Given the description of an element on the screen output the (x, y) to click on. 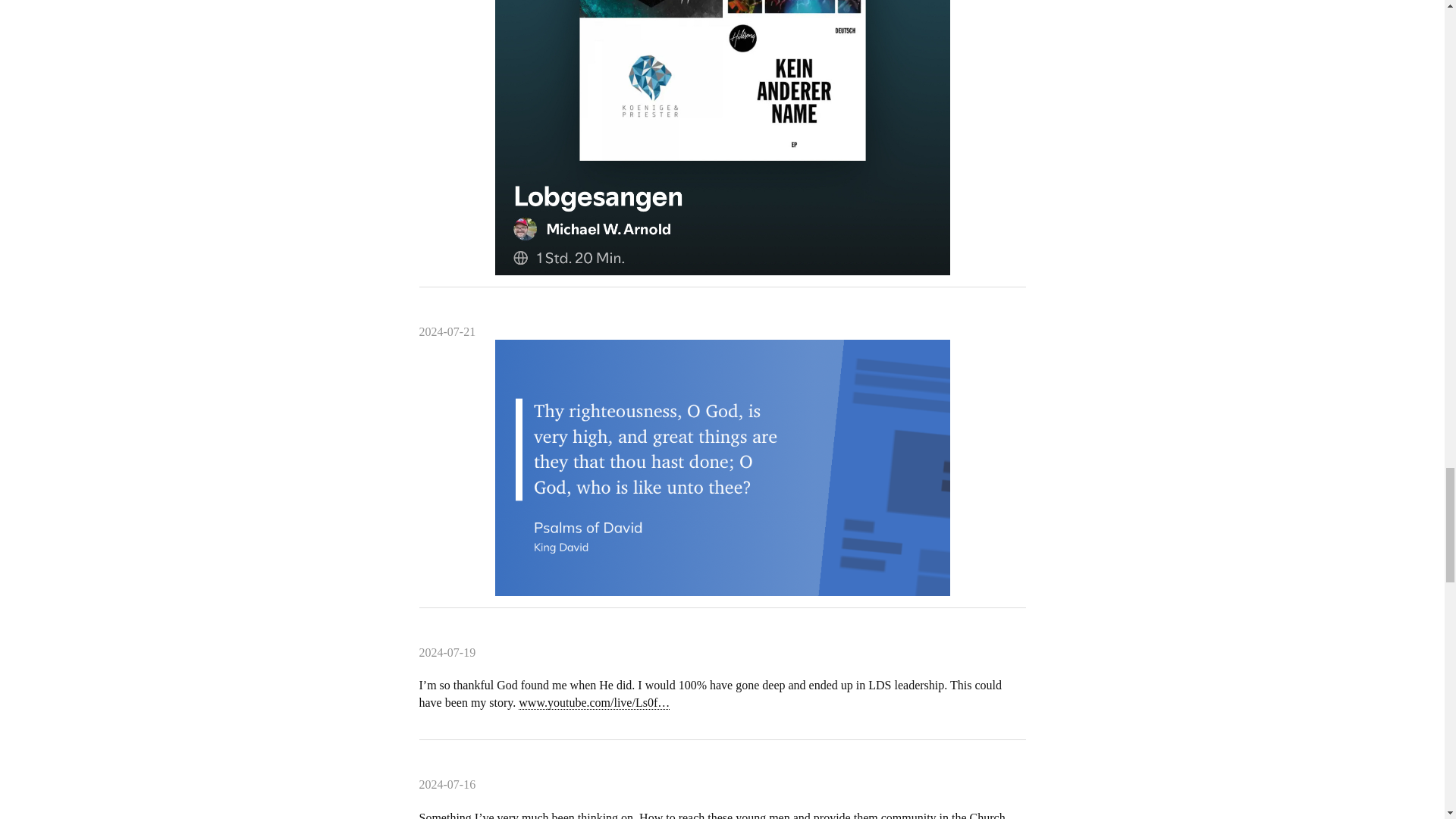
2024-07-16 (447, 785)
2024-07-19 (447, 653)
2024-07-21 (447, 332)
